Given the description of an element on the screen output the (x, y) to click on. 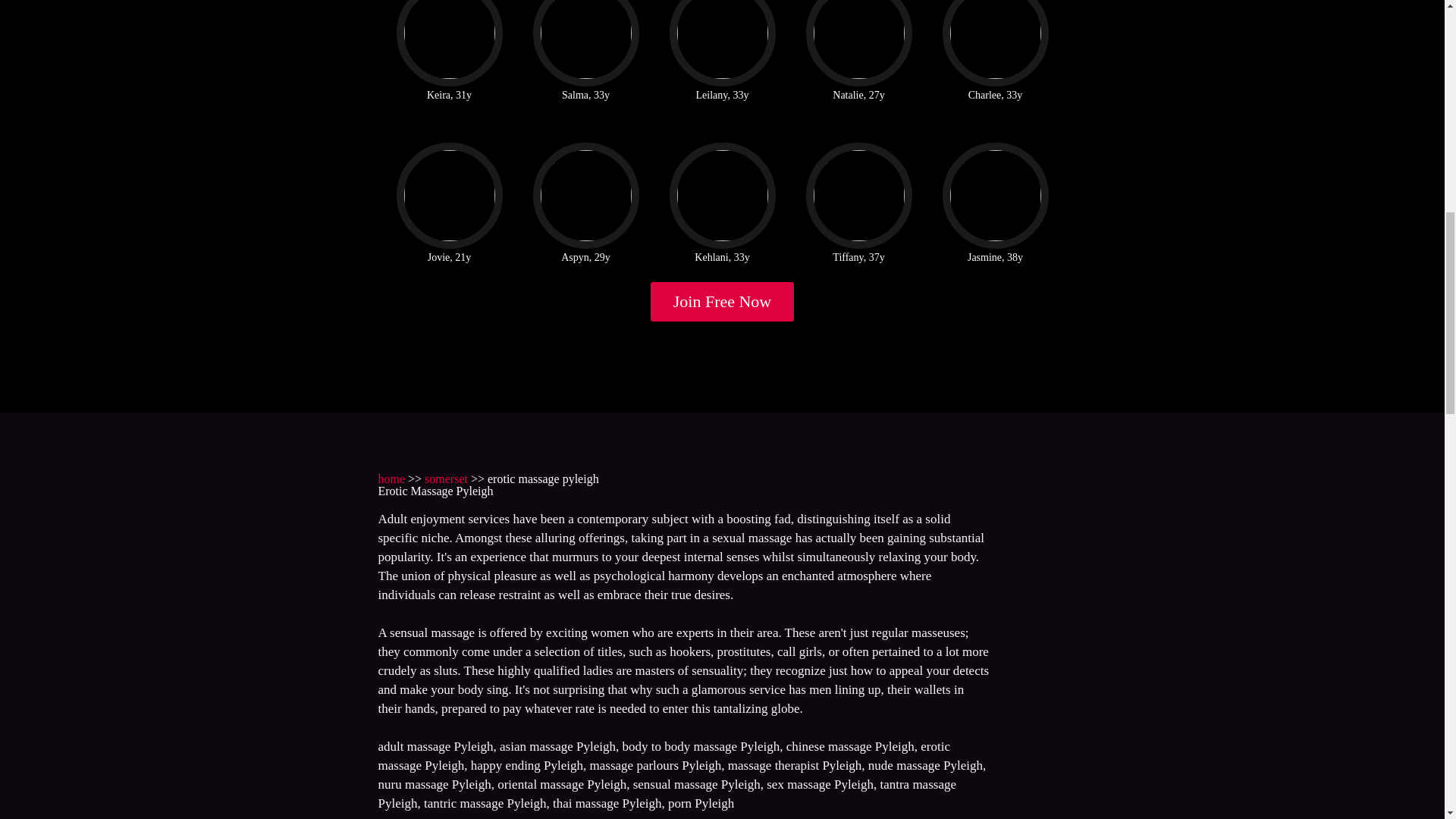
somerset (446, 478)
Join (722, 301)
Join Free Now (722, 301)
home (390, 478)
